Given the description of an element on the screen output the (x, y) to click on. 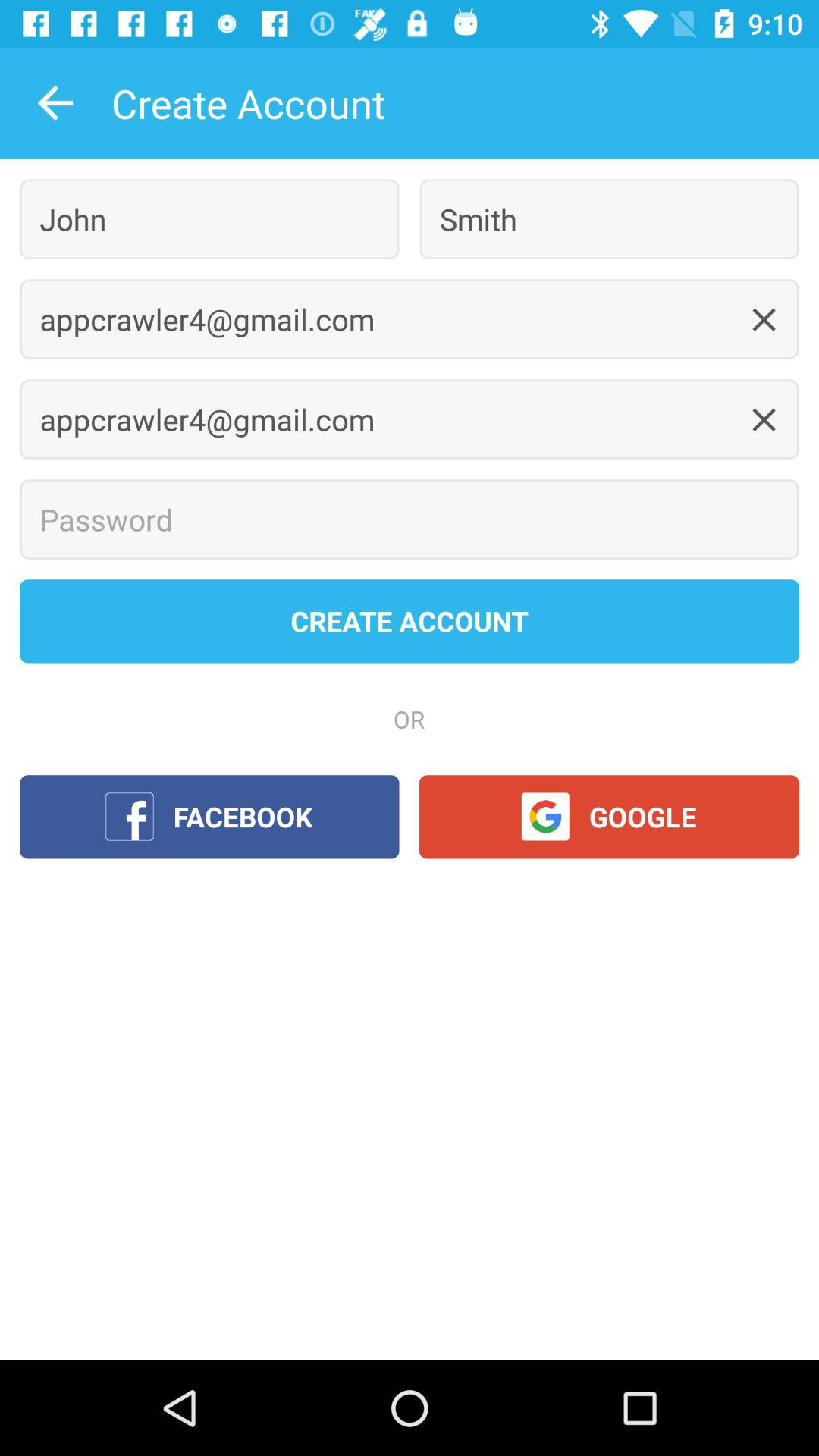
choose the item above john (55, 103)
